Given the description of an element on the screen output the (x, y) to click on. 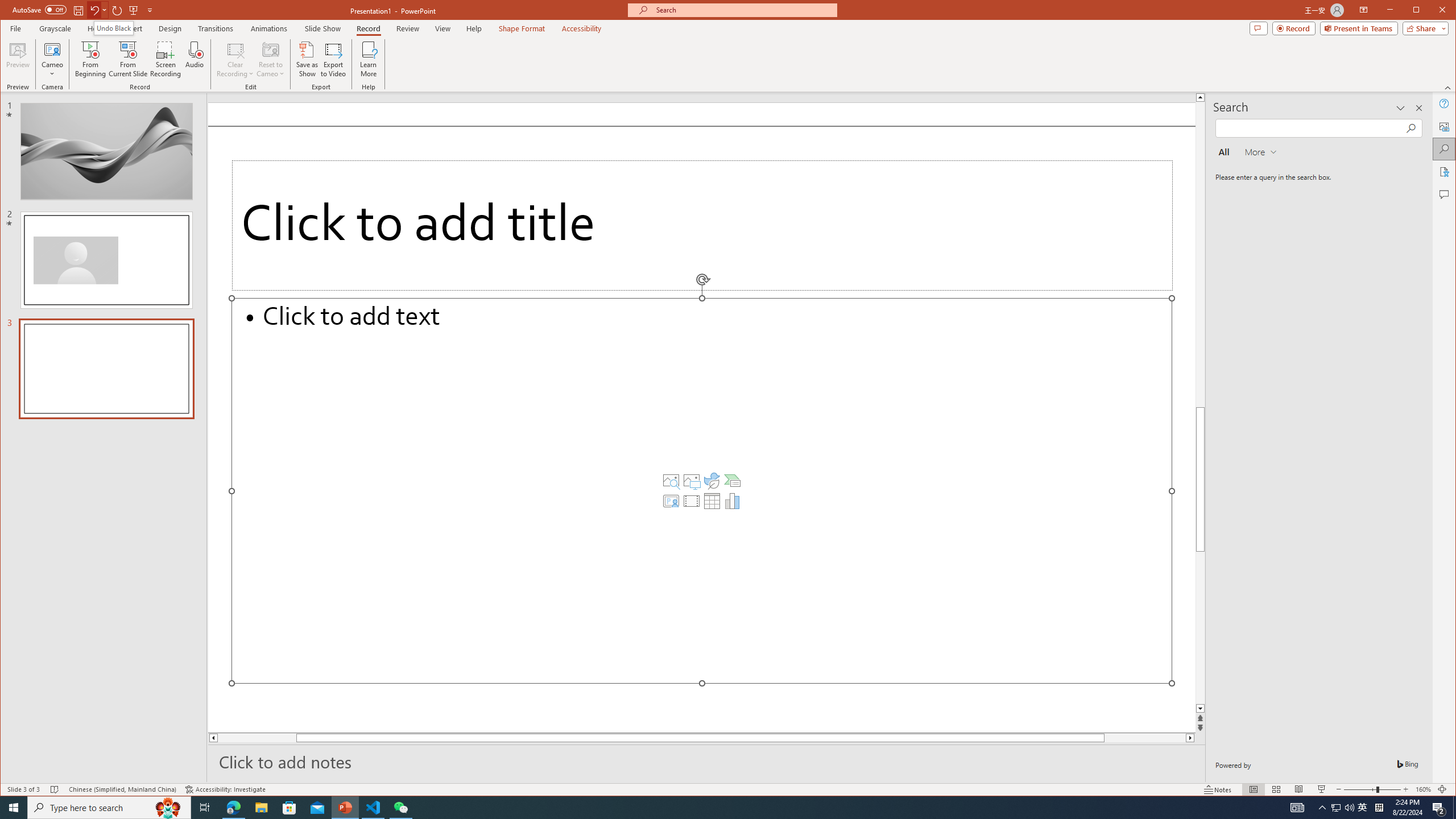
Insert Video (691, 501)
Shape Format (521, 28)
Undo Black (113, 28)
Line down (1335, 807)
Slide Notes (1200, 709)
Grayscale (706, 761)
Alt Text (55, 28)
